Given the description of an element on the screen output the (x, y) to click on. 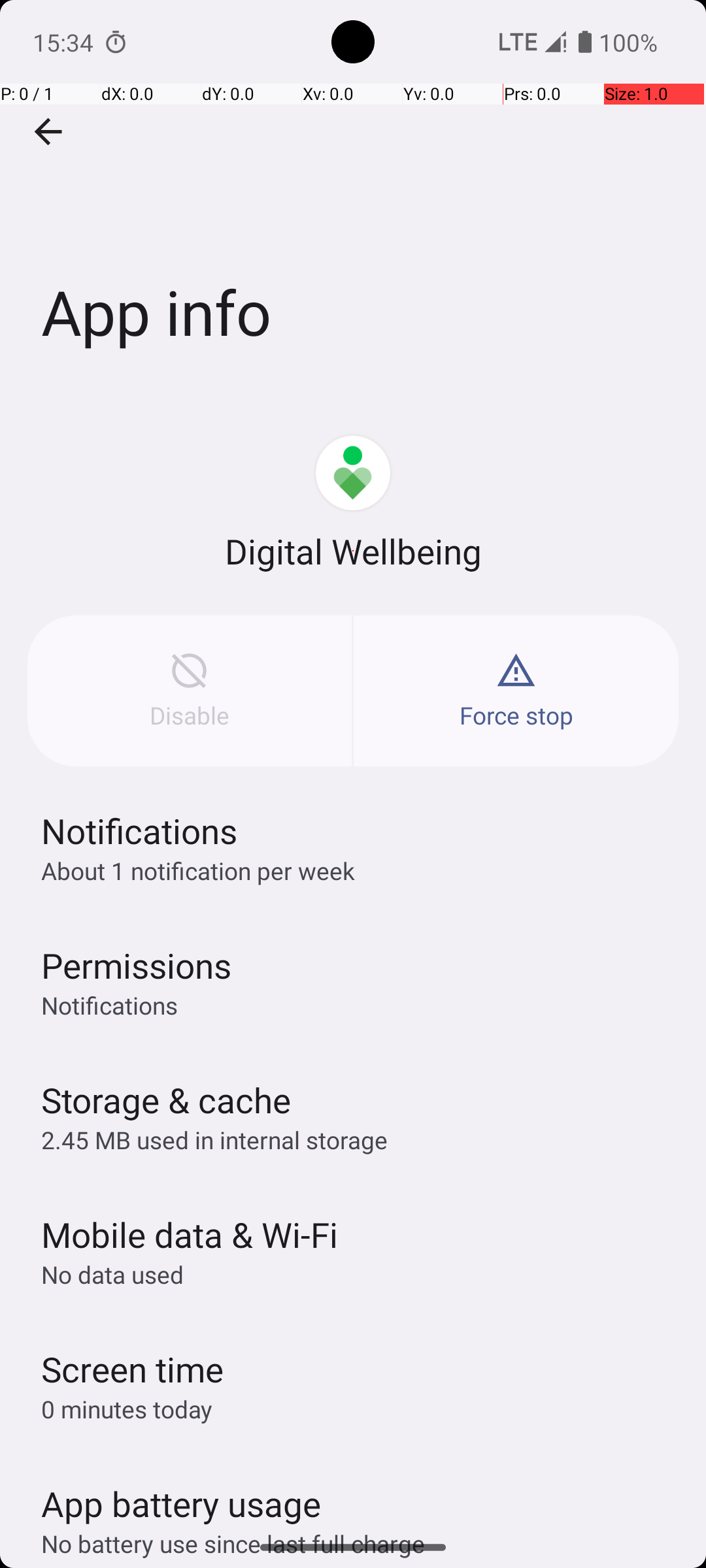
Digital Wellbeing Element type: android.widget.TextView (352, 550)
Disable Element type: android.widget.Button (189, 690)
About 1 notification per week Element type: android.widget.TextView (197, 870)
2.45 MB used in internal storage Element type: android.widget.TextView (214, 1139)
0 minutes today Element type: android.widget.TextView (127, 1408)
